Given the description of an element on the screen output the (x, y) to click on. 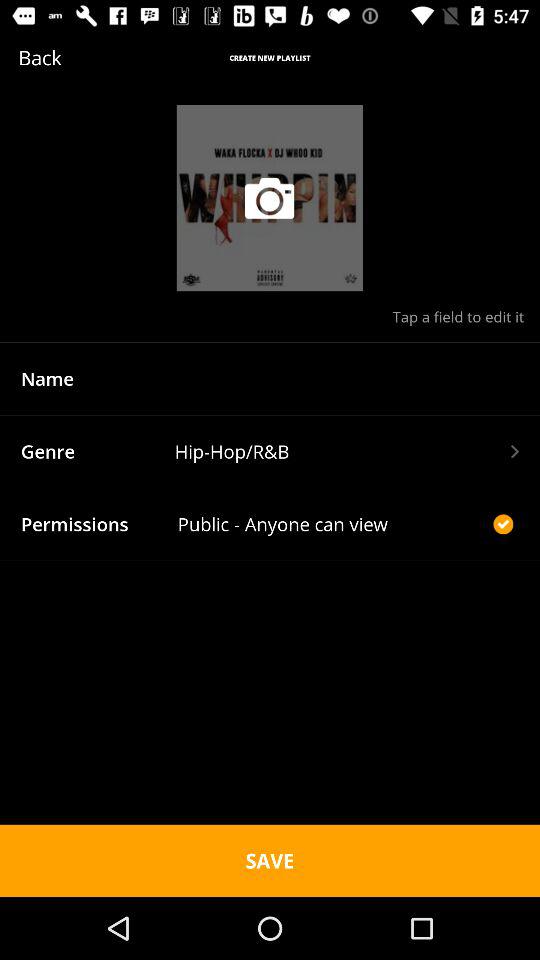
turn on the hip hop r icon (346, 451)
